Given the description of an element on the screen output the (x, y) to click on. 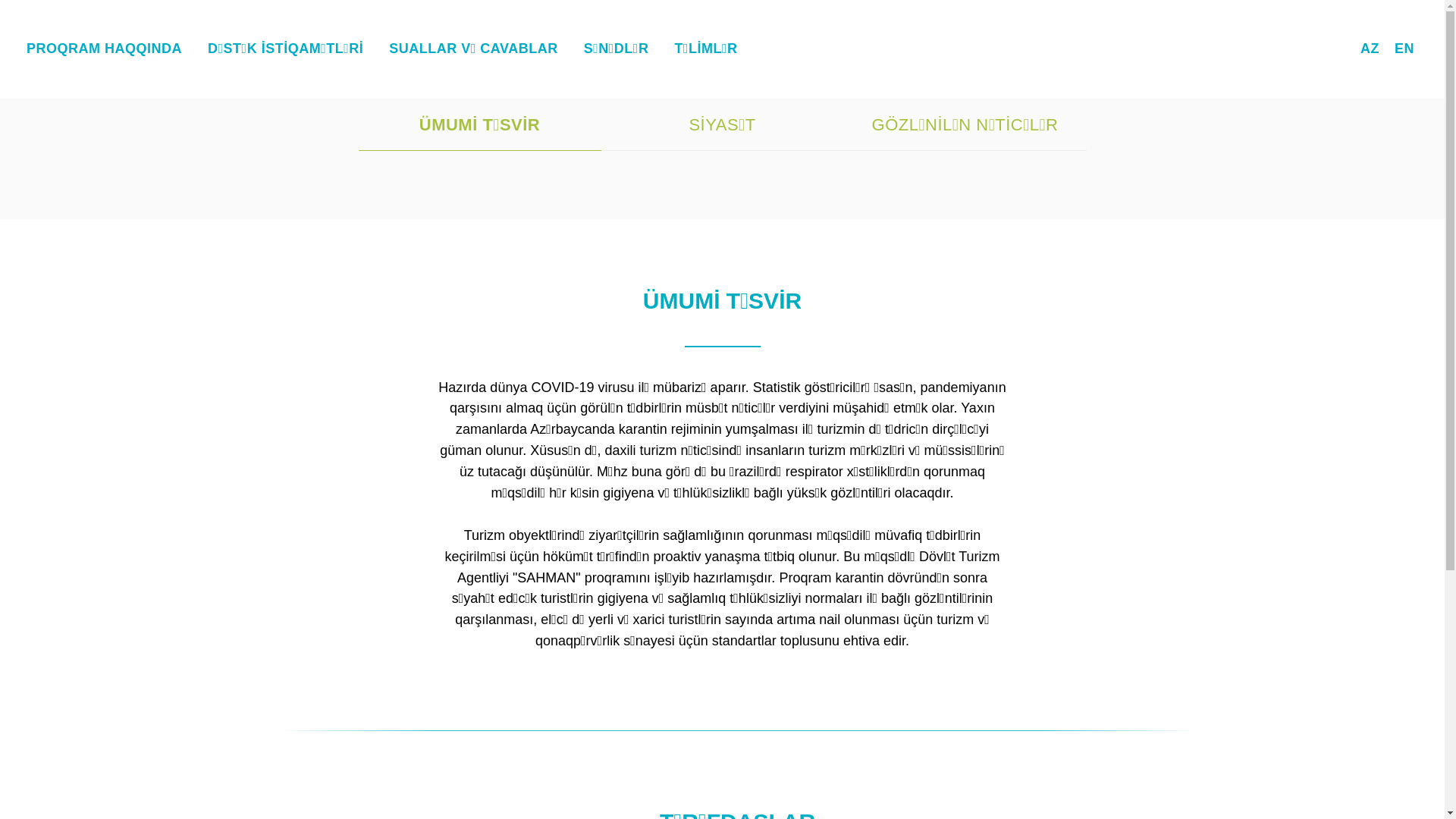
PROQRAM HAQQINDA Element type: text (103, 48)
AZ Element type: text (1369, 48)
EN Element type: text (1404, 48)
